Given the description of an element on the screen output the (x, y) to click on. 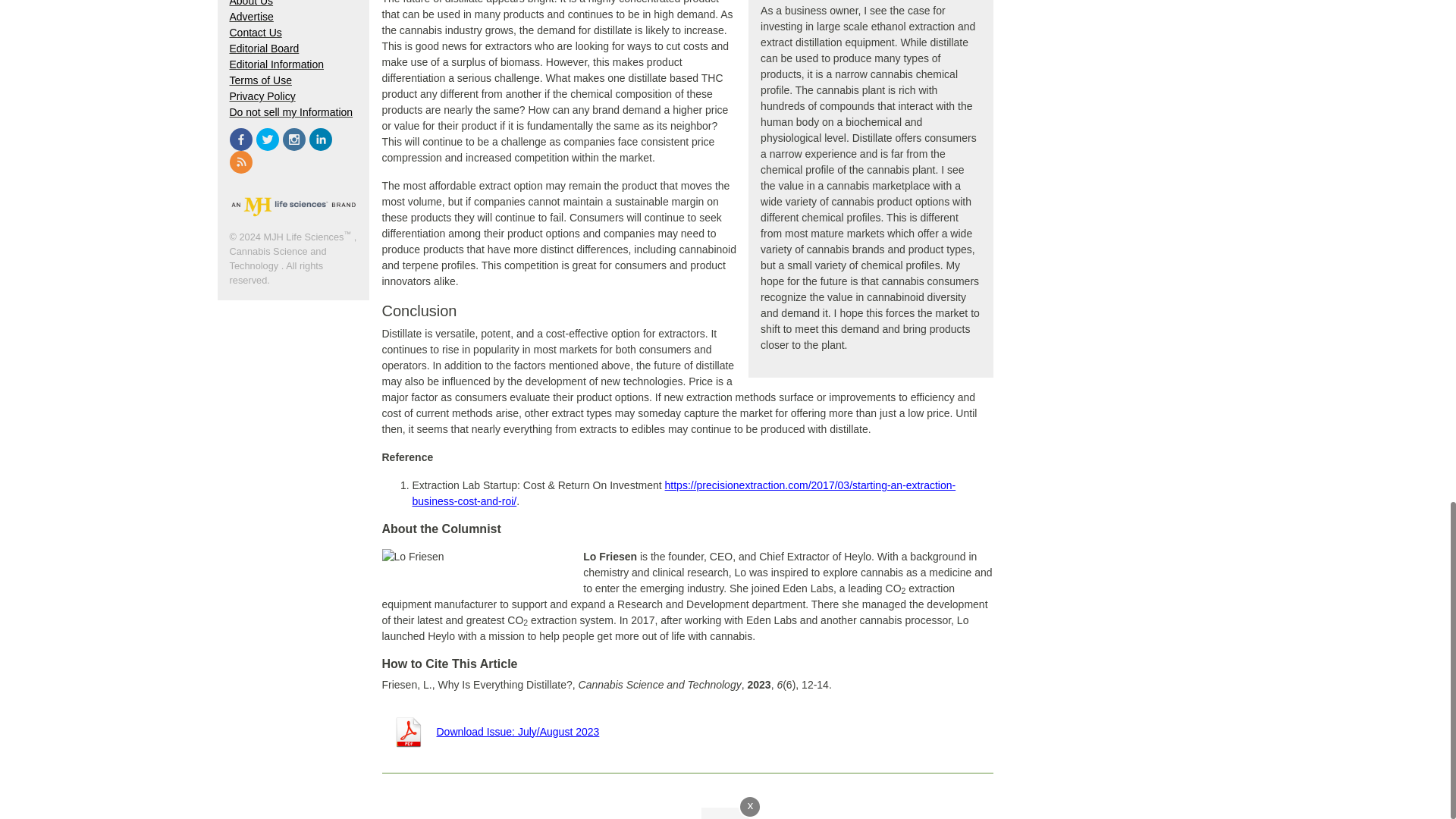
Download issue (490, 731)
